Given the description of an element on the screen output the (x, y) to click on. 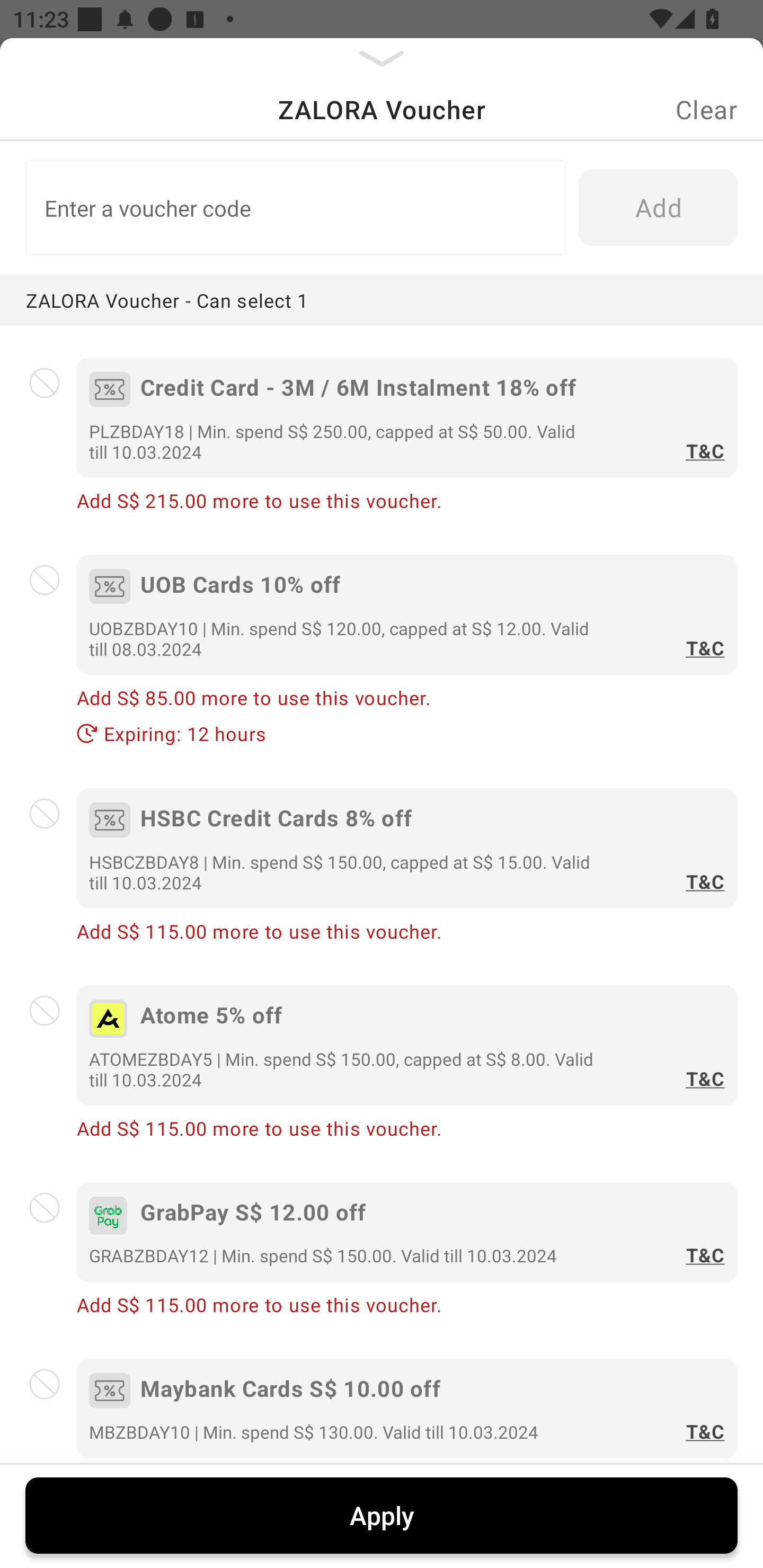
Clear (706, 109)
Add (657, 207)
Enter a voucher code (292, 207)
T&C (701, 442)
T&C (701, 638)
T&C (701, 871)
T&C (701, 1069)
T&C (701, 1255)
T&C (701, 1432)
Apply (381, 1515)
